Given the description of an element on the screen output the (x, y) to click on. 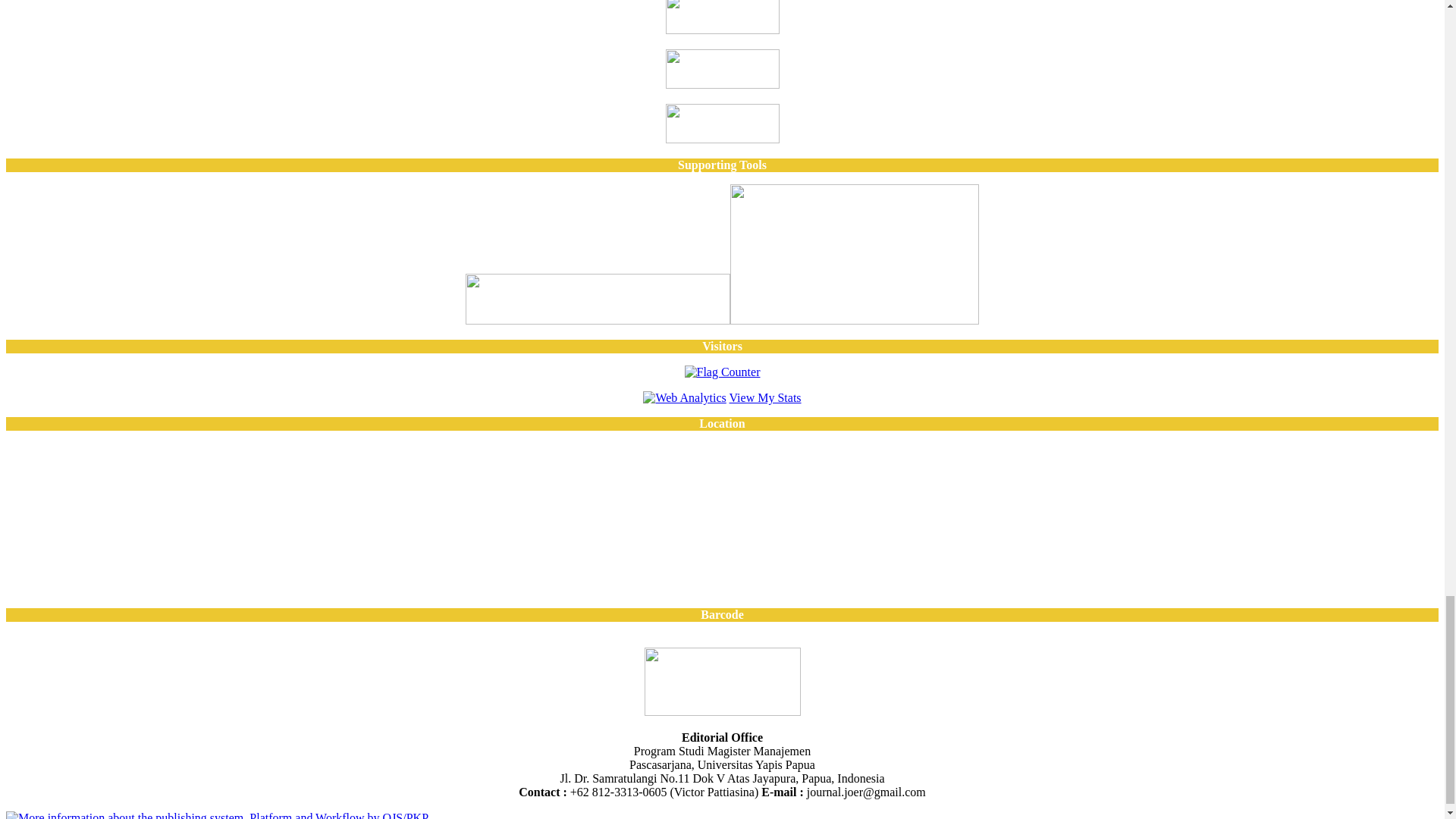
Dimensions (721, 83)
Web Analytics (684, 397)
